Given the description of an element on the screen output the (x, y) to click on. 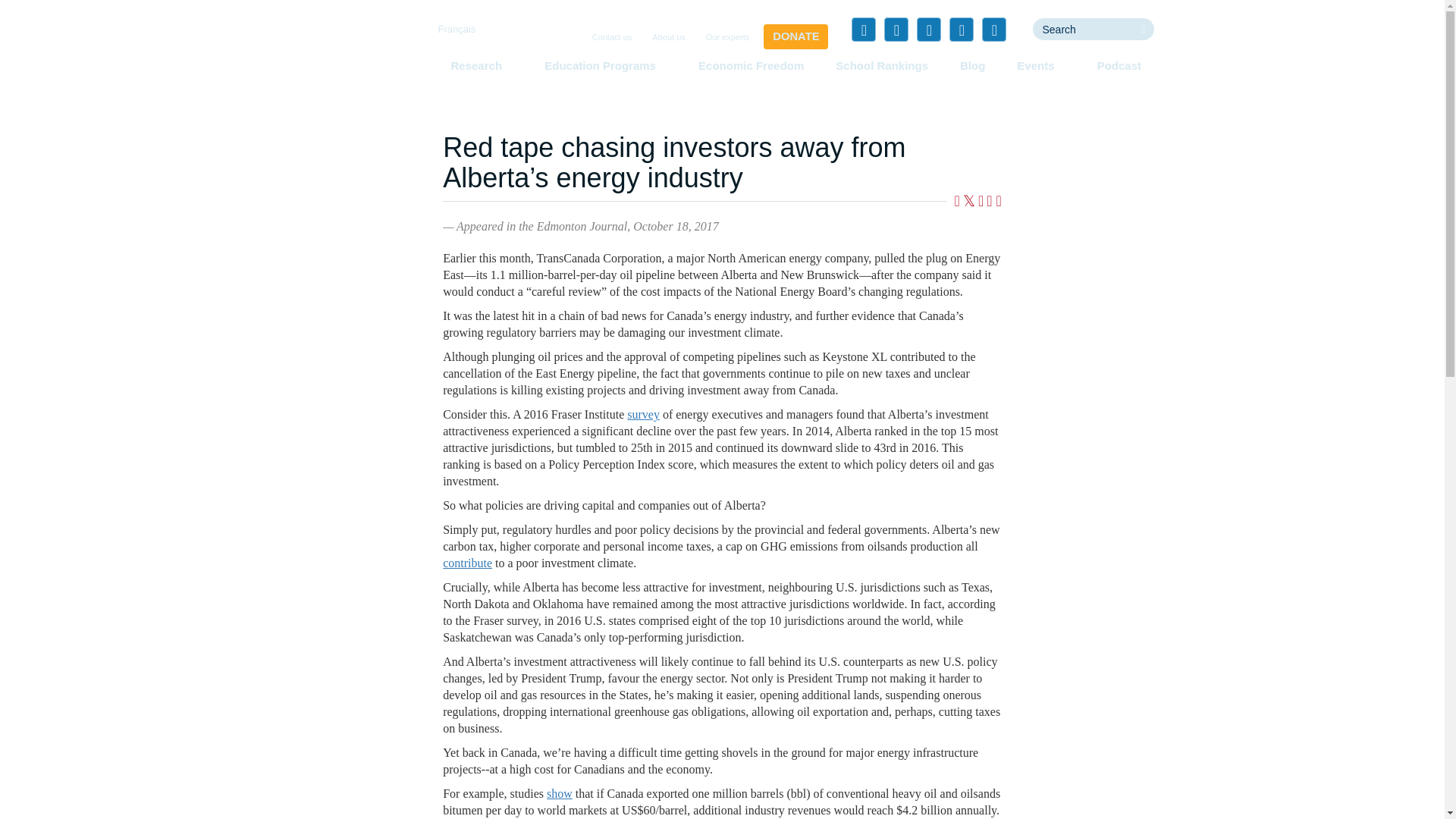
Twitter (895, 29)
DONATE (795, 36)
Instagram (993, 29)
LinkedIn (928, 29)
Home (352, 56)
Facebook (863, 29)
YouTube (961, 29)
Enter the terms you wish to search for. (1082, 29)
About us (668, 37)
School Rankings (882, 65)
Contact us (612, 37)
Research (481, 65)
Our experts (727, 37)
